Given the description of an element on the screen output the (x, y) to click on. 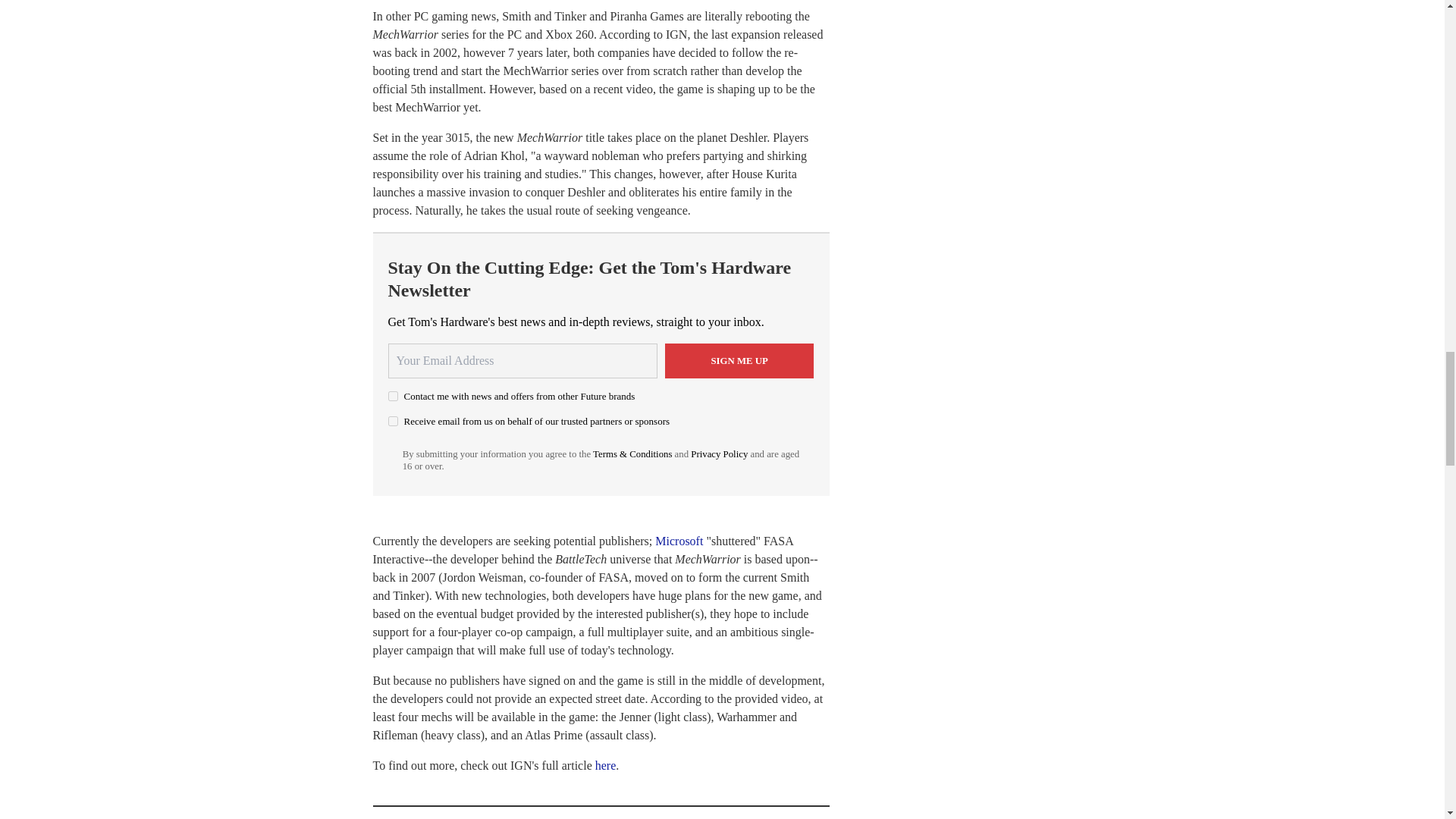
on (392, 420)
on (392, 396)
Sign me up (739, 360)
